Given the description of an element on the screen output the (x, y) to click on. 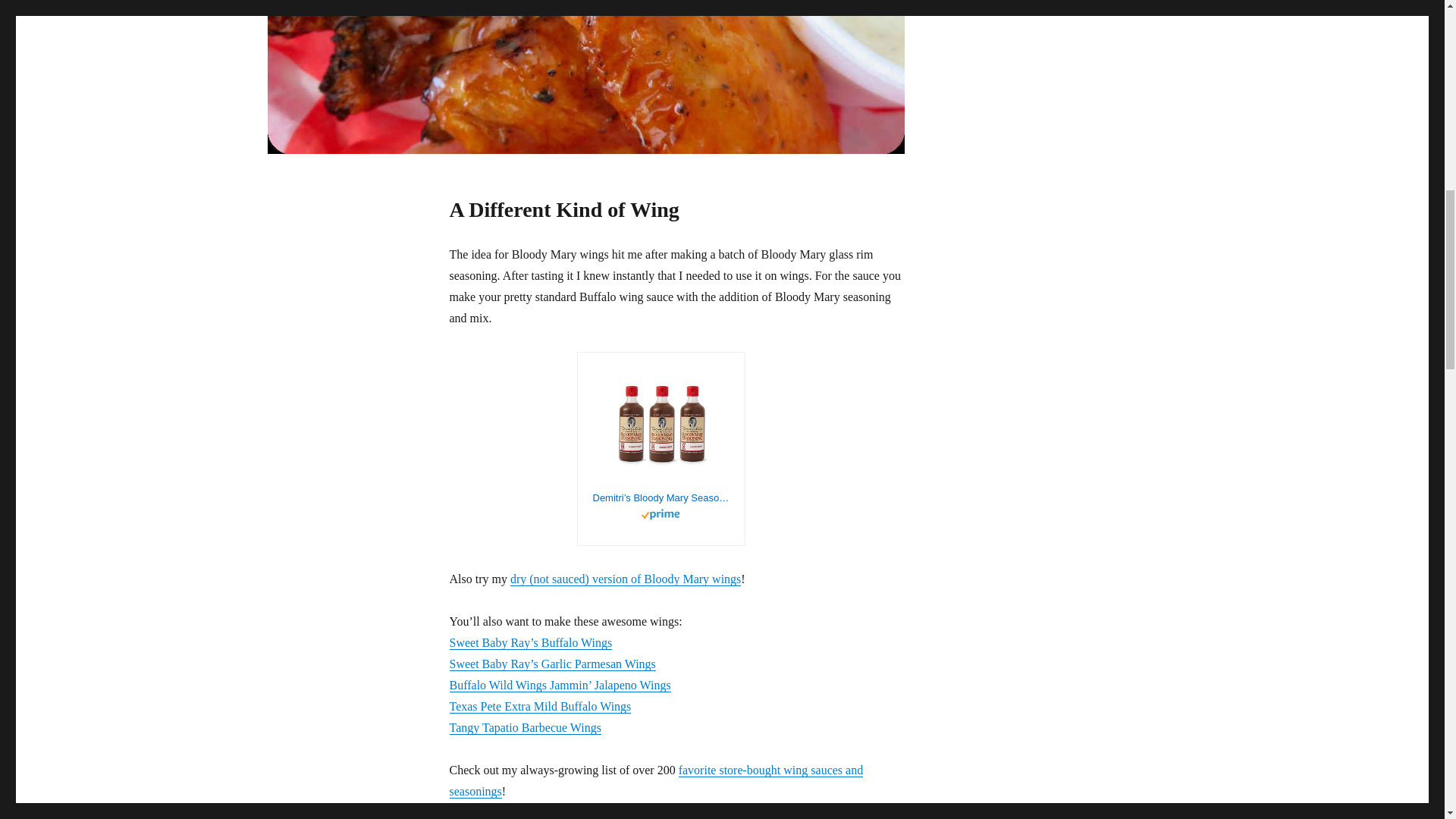
Texas Pete Extra Mild Buffalo Wings (539, 706)
favorite store-bought wing sauces and seasonings (655, 780)
Tangy Tapatio Barbecue Wings (523, 727)
